Given the description of an element on the screen output the (x, y) to click on. 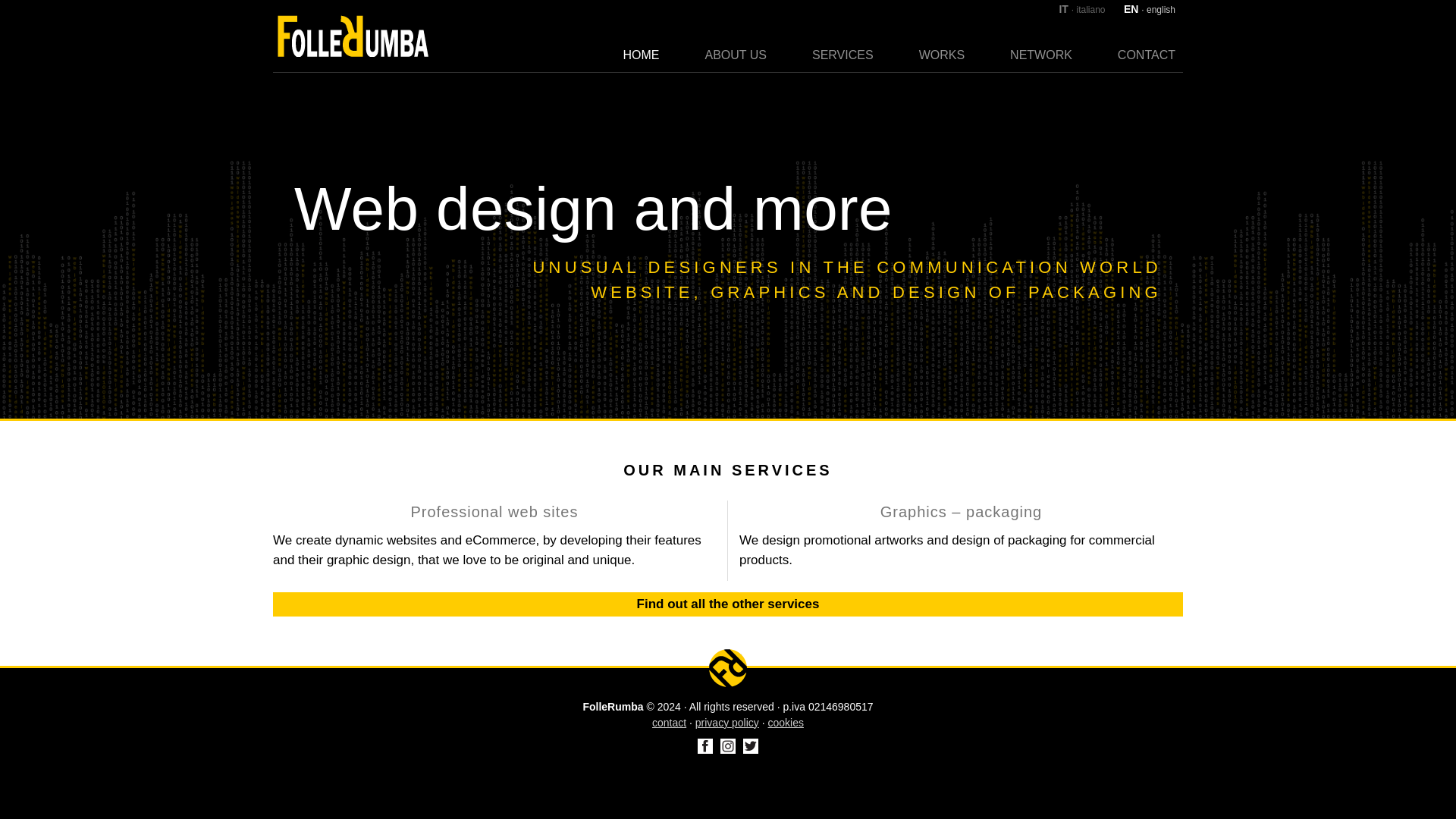
WORKS (941, 52)
ABOUT US (735, 52)
Find out all the other services (727, 604)
contact (668, 721)
Twitter (750, 745)
CONTACT (1145, 52)
cookies (785, 721)
FolleRumba (727, 668)
HOME (640, 52)
Facebook (705, 745)
SERVICES (842, 52)
privacy policy (726, 721)
Instagram (727, 745)
NETWORK (1041, 52)
